Given the description of an element on the screen output the (x, y) to click on. 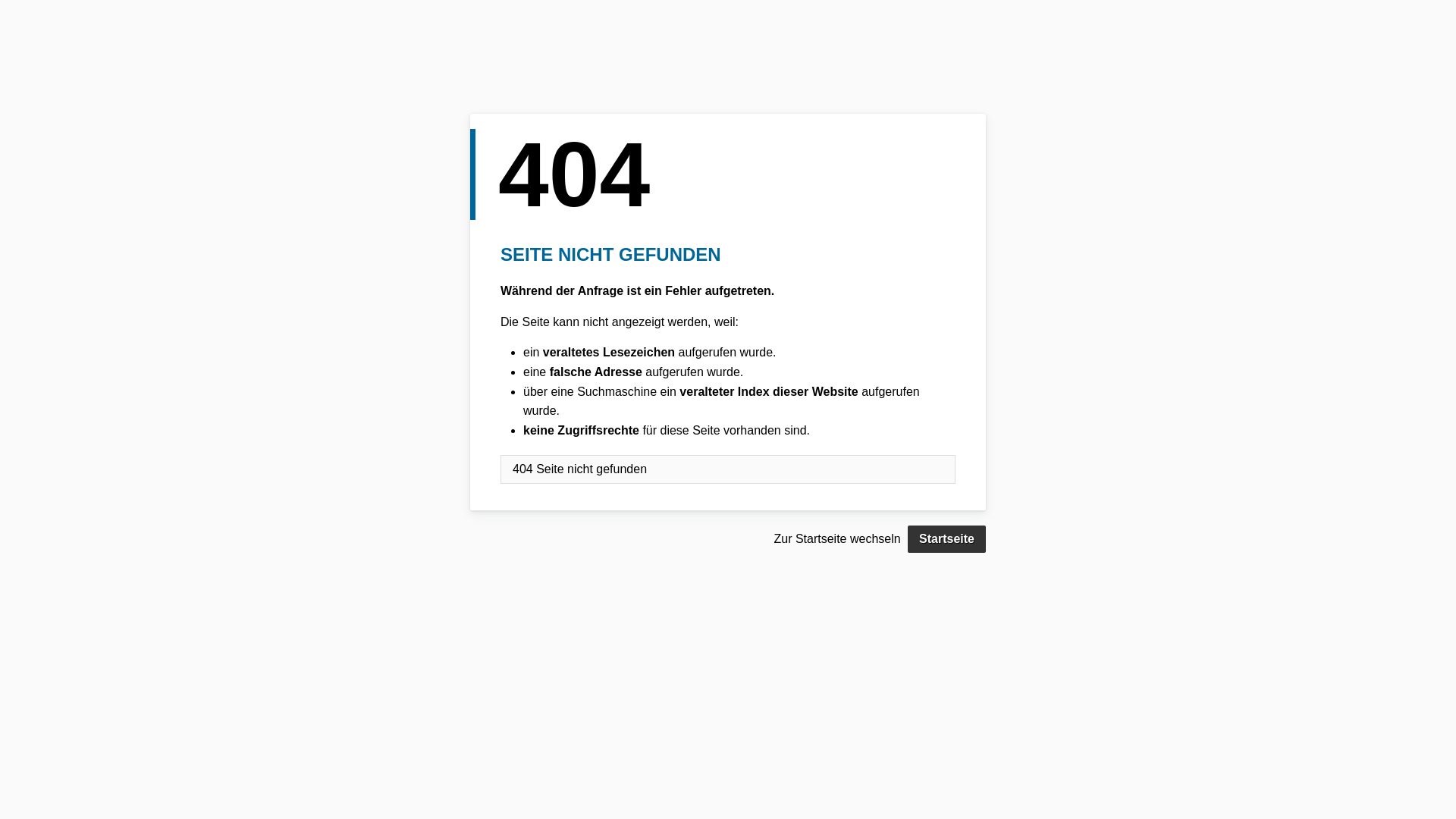
Startseite Element type: text (946, 538)
